Given the description of an element on the screen output the (x, y) to click on. 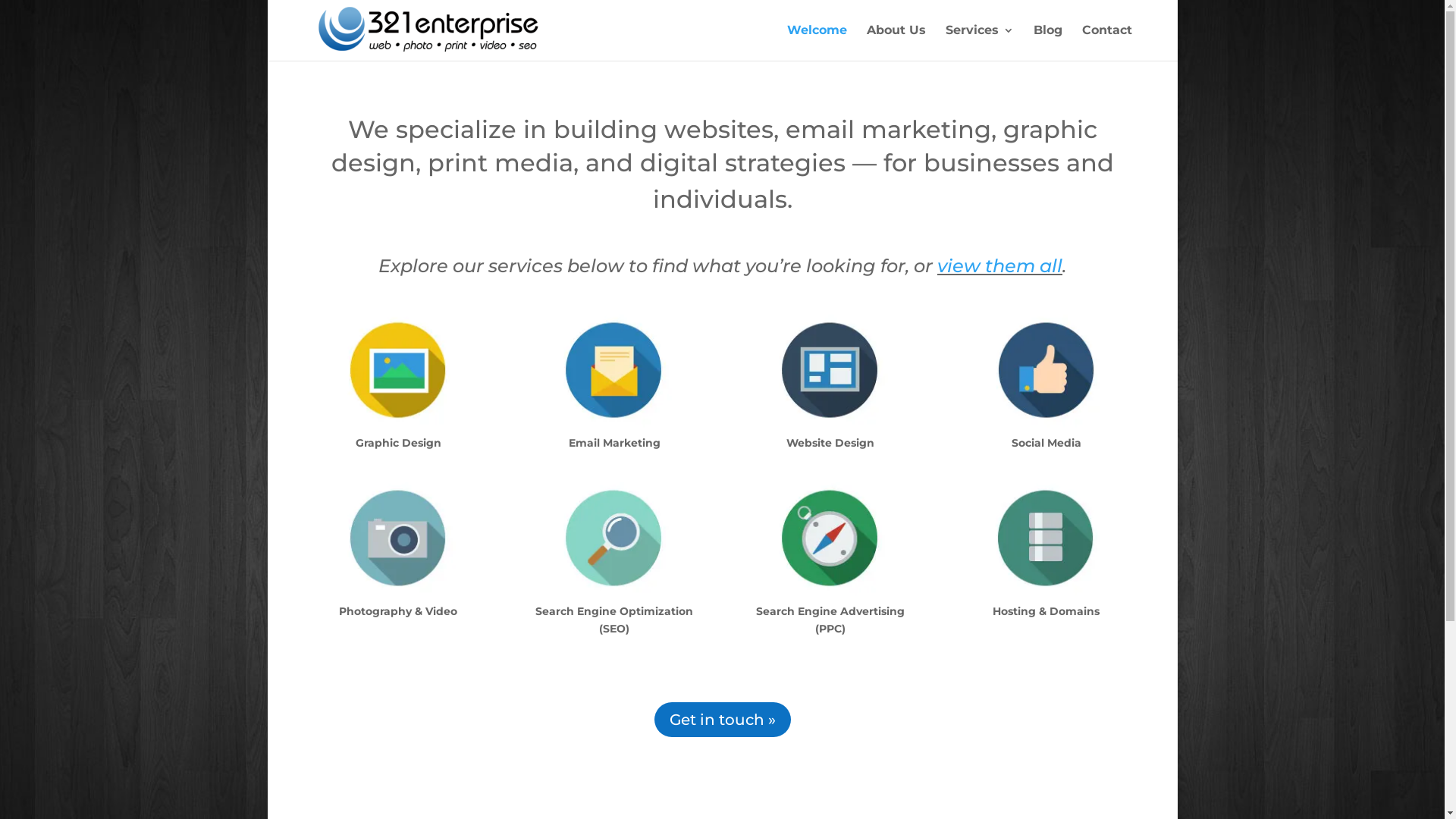
Welcome Element type: text (817, 42)
camera-tout Element type: hover (397, 537)
About Us Element type: text (895, 42)
social-tout Element type: hover (1045, 370)
dashboard-tout Element type: hover (829, 370)
picture-tout Element type: hover (397, 370)
Services Element type: text (978, 42)
search-tout Element type: hover (613, 537)
Blog Element type: text (1046, 42)
email-tout Element type: hover (613, 370)
compass-tout Element type: hover (829, 537)
database-tout Element type: hover (1045, 537)
view them all Element type: text (999, 265)
Contact Element type: text (1106, 42)
